Given the description of an element on the screen output the (x, y) to click on. 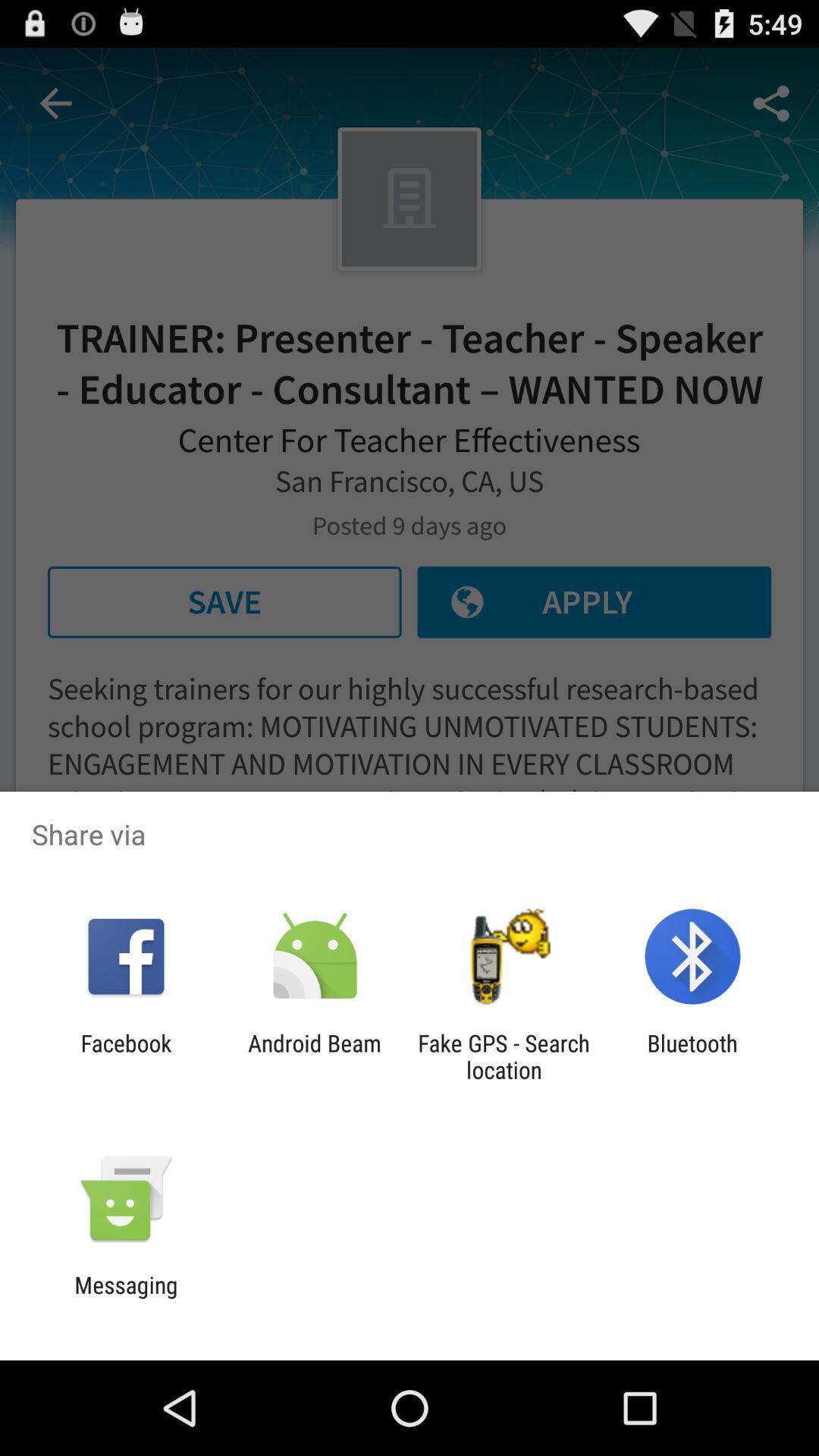
select android beam (314, 1056)
